Given the description of an element on the screen output the (x, y) to click on. 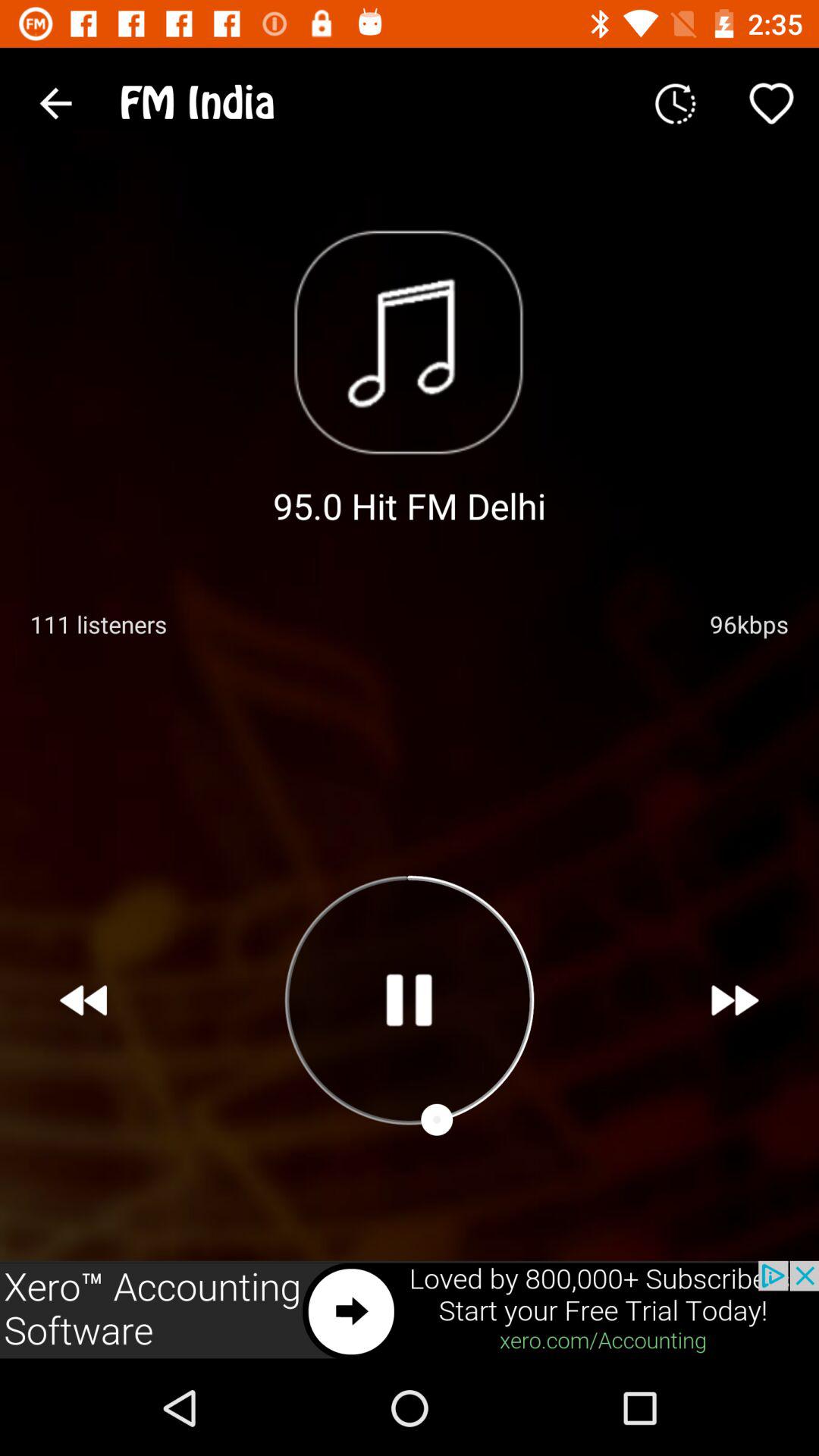
forward (735, 1000)
